Given the description of an element on the screen output the (x, y) to click on. 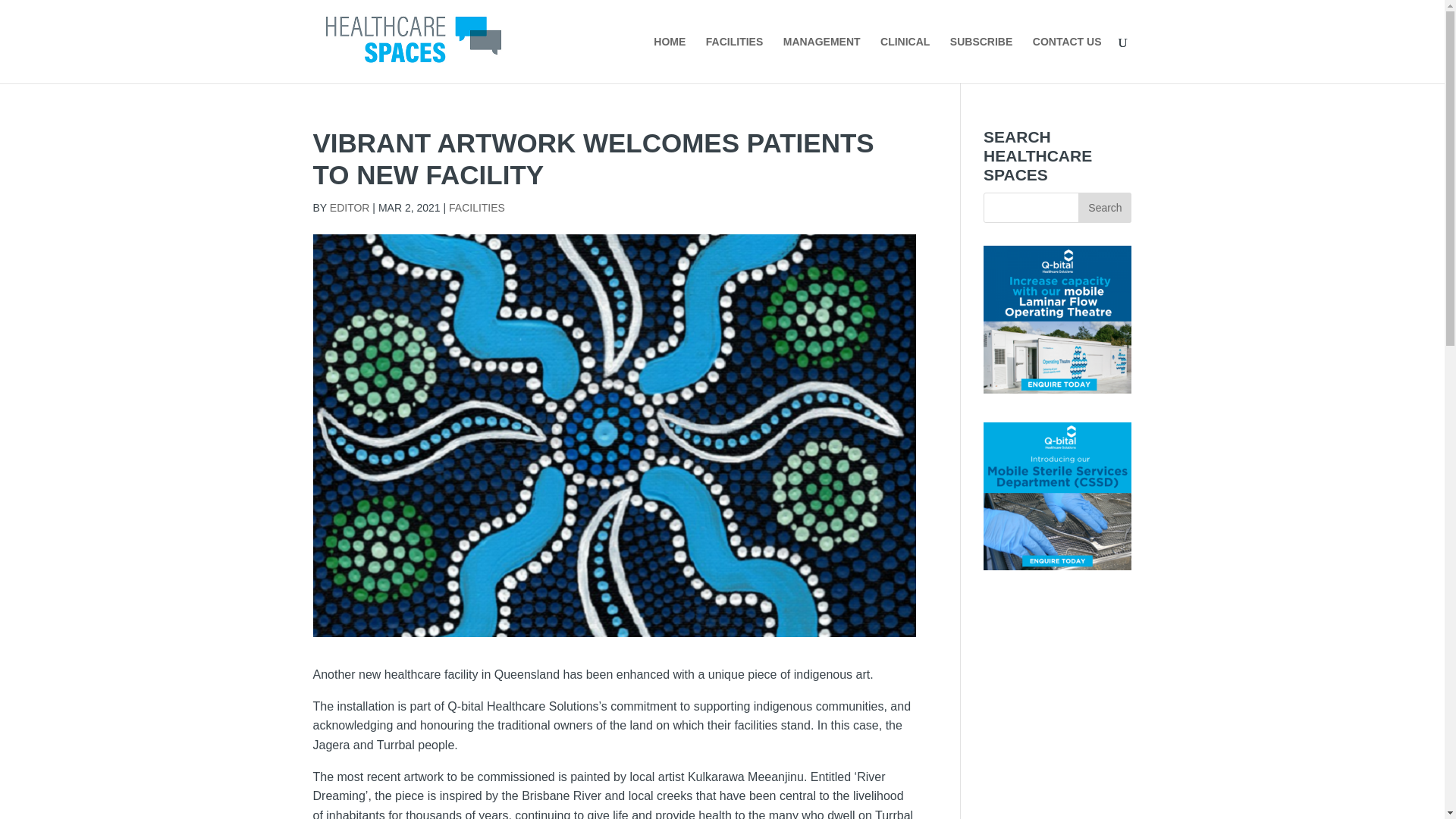
CONTACT US (1067, 59)
FACILITIES (734, 59)
FACILITIES (476, 207)
SUBSCRIBE (980, 59)
Posts by Editor (349, 207)
Search (1104, 207)
MANAGEMENT (821, 59)
CLINICAL (905, 59)
Search (1104, 207)
EDITOR (349, 207)
